Given the description of an element on the screen output the (x, y) to click on. 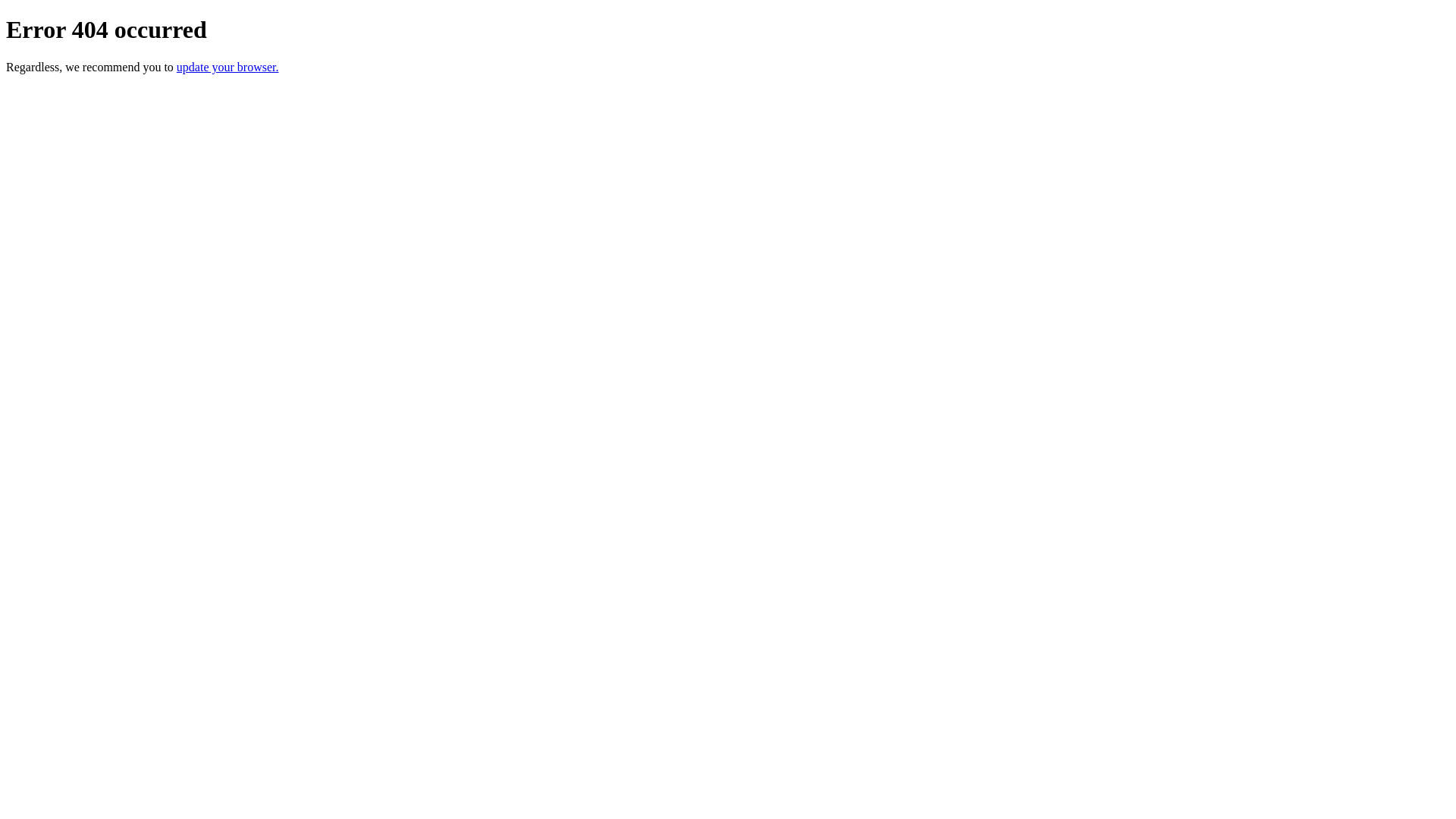
update your browser. Element type: text (227, 66)
